Given the description of an element on the screen output the (x, y) to click on. 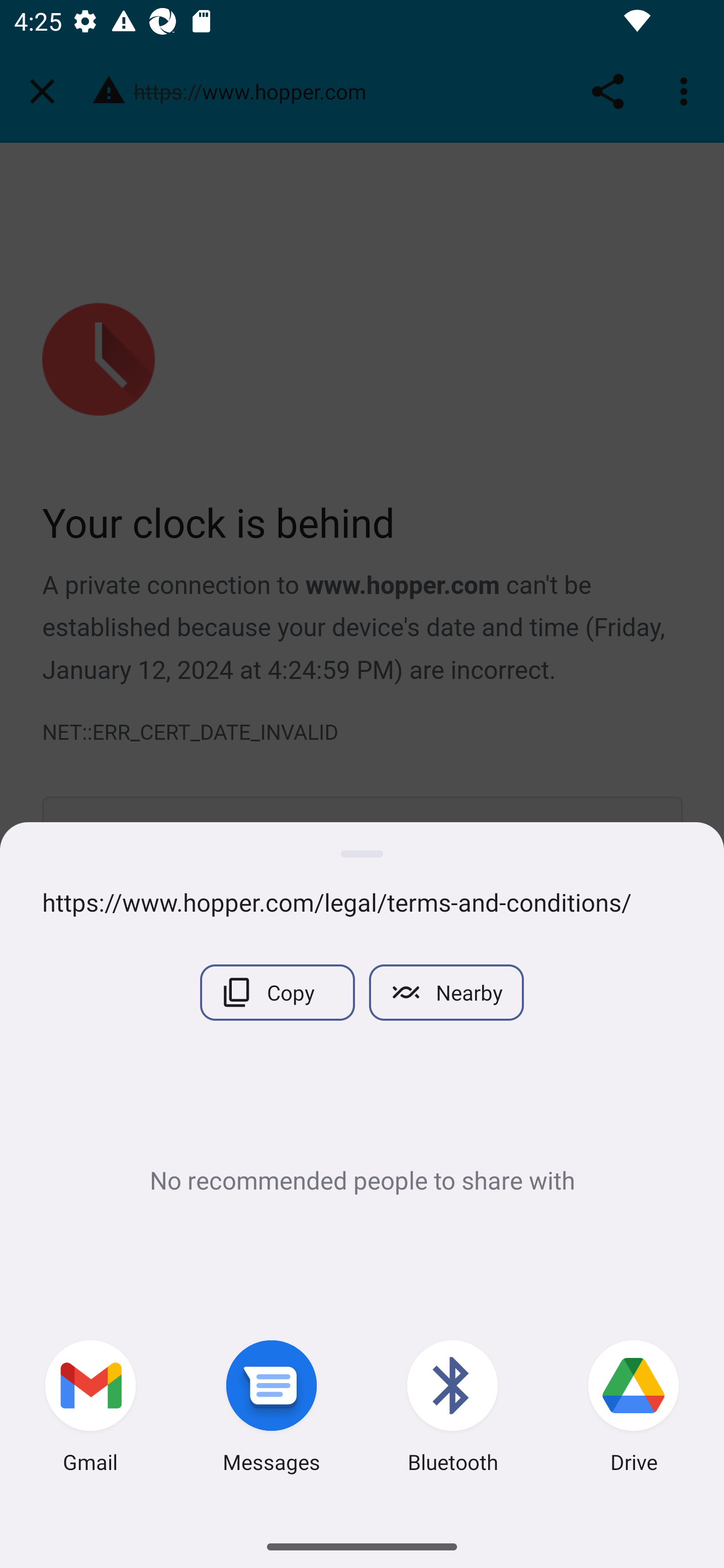
Copy (276, 992)
Nearby (446, 992)
Gmail (90, 1409)
Messages (271, 1409)
Bluetooth (452, 1409)
Drive (633, 1409)
